Given the description of an element on the screen output the (x, y) to click on. 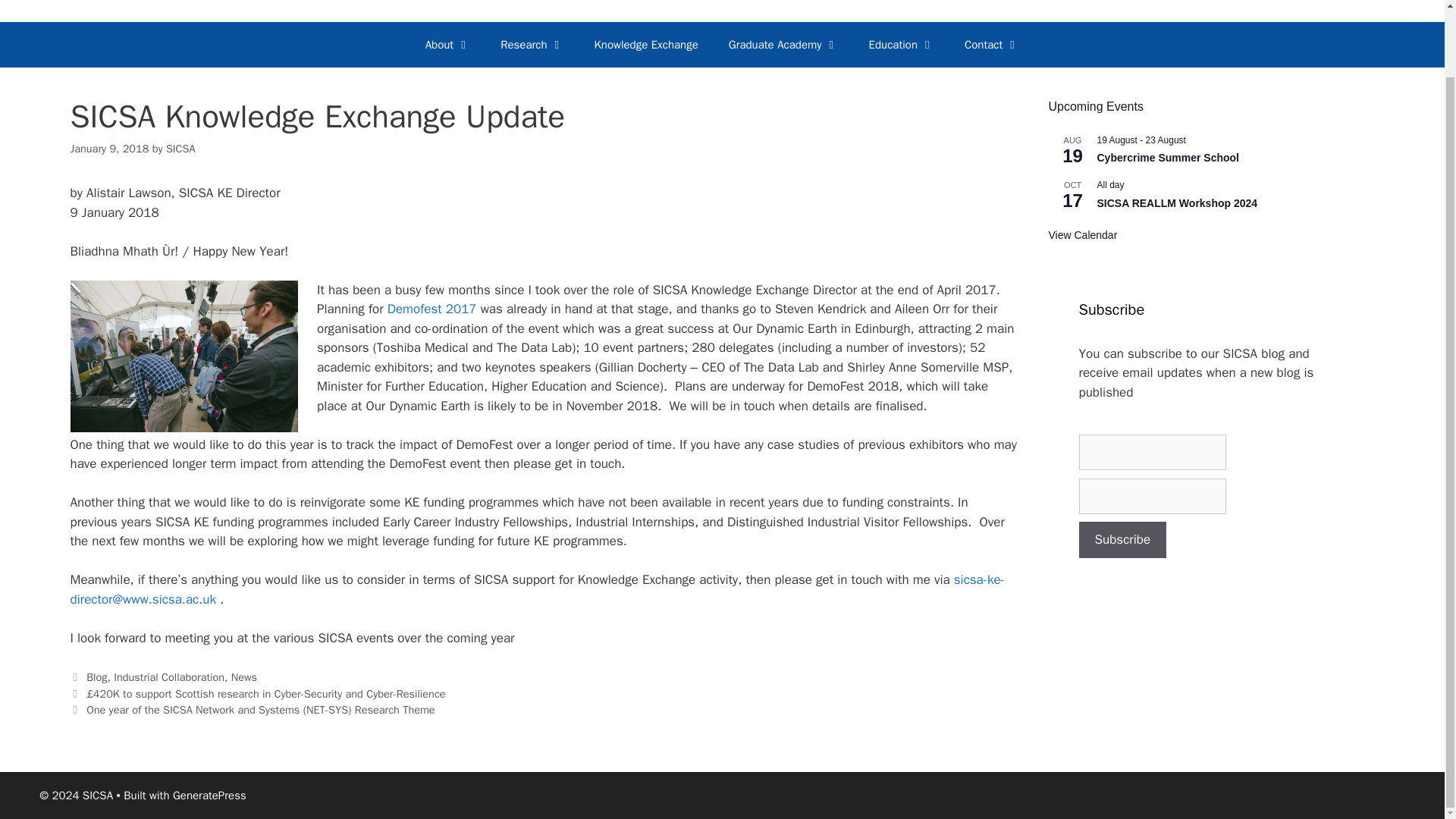
View more events. (1082, 235)
Demofest 2017 (433, 308)
SICSA (180, 148)
Graduate Academy (783, 44)
Contact (991, 44)
SICSA REALLM Workshop 2024 (1176, 202)
Research (531, 44)
Subscribe (1122, 539)
Knowledge Exchange (646, 44)
Cybercrime Summer School (1167, 157)
